Given the description of an element on the screen output the (x, y) to click on. 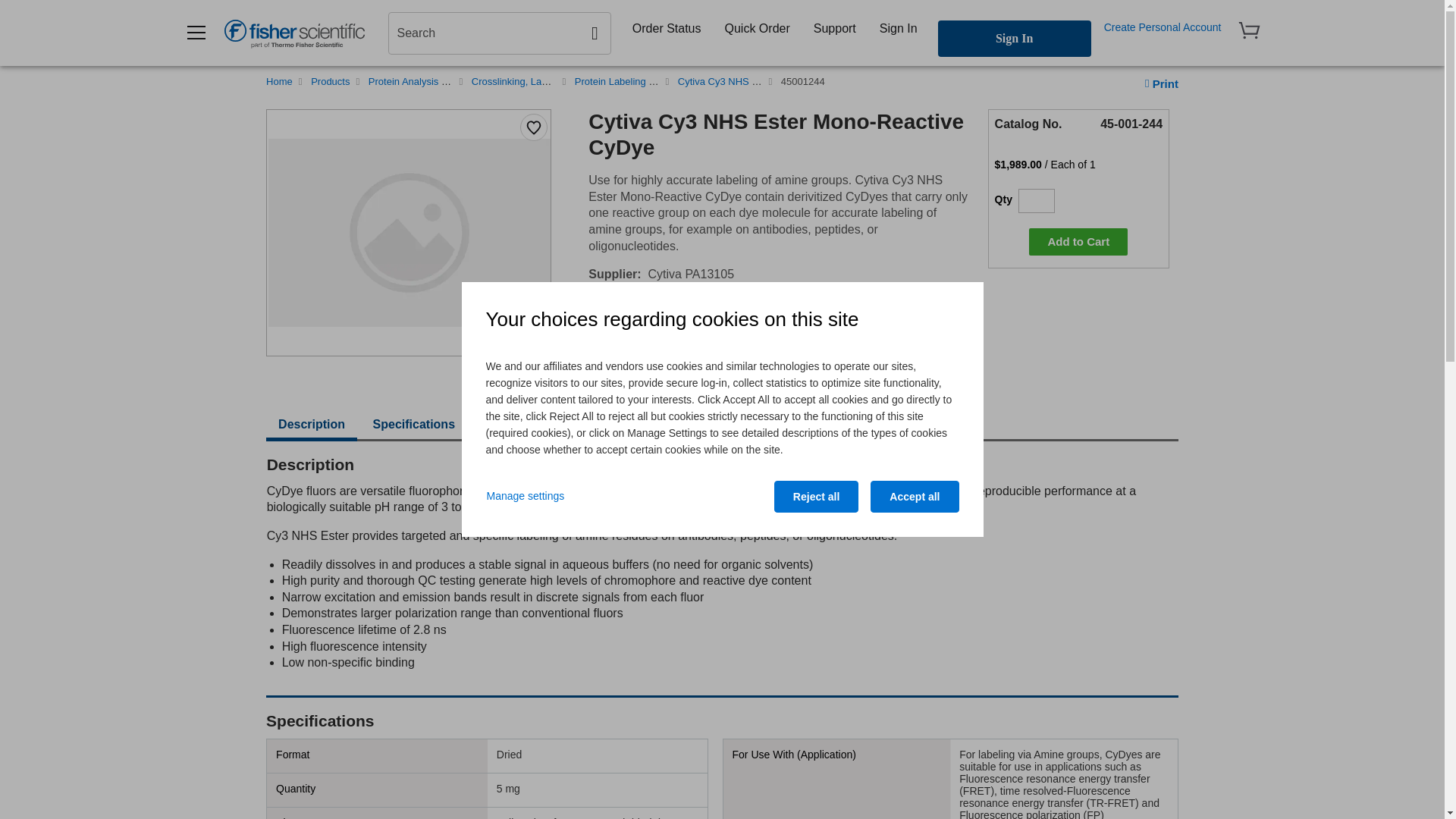
Sign In (1013, 38)
Protein Analysis Reagents (425, 81)
Crosslinking, Labeling and Protein Modification (574, 81)
Protein Labeling Reagents (632, 81)
Create Personal Account (1162, 27)
Support (834, 28)
Order Status (666, 28)
Print (1160, 83)
45001244 (802, 81)
